Given the description of an element on the screen output the (x, y) to click on. 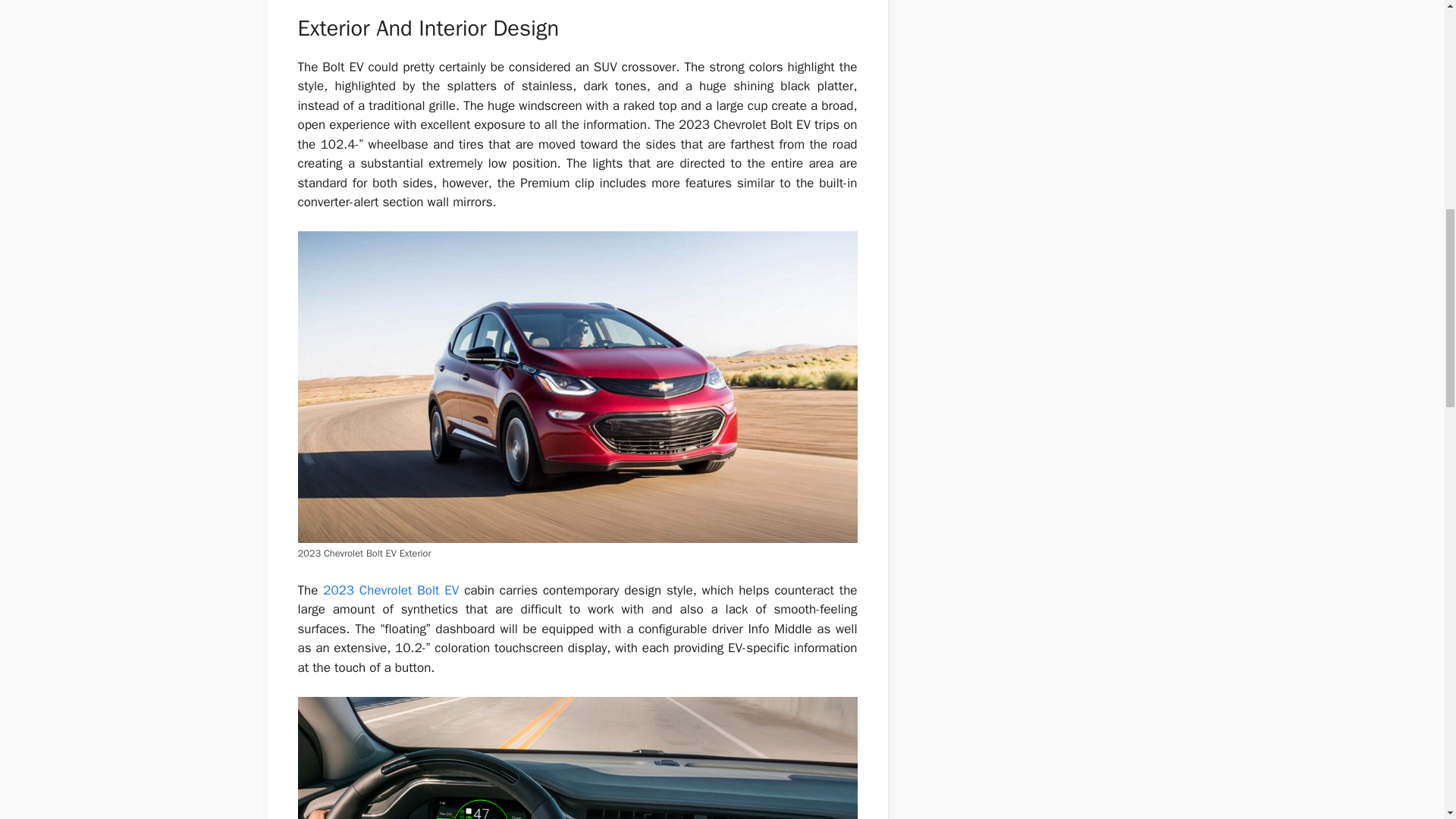
2023 Chevrolet Bolt EV (390, 590)
